Given the description of an element on the screen output the (x, y) to click on. 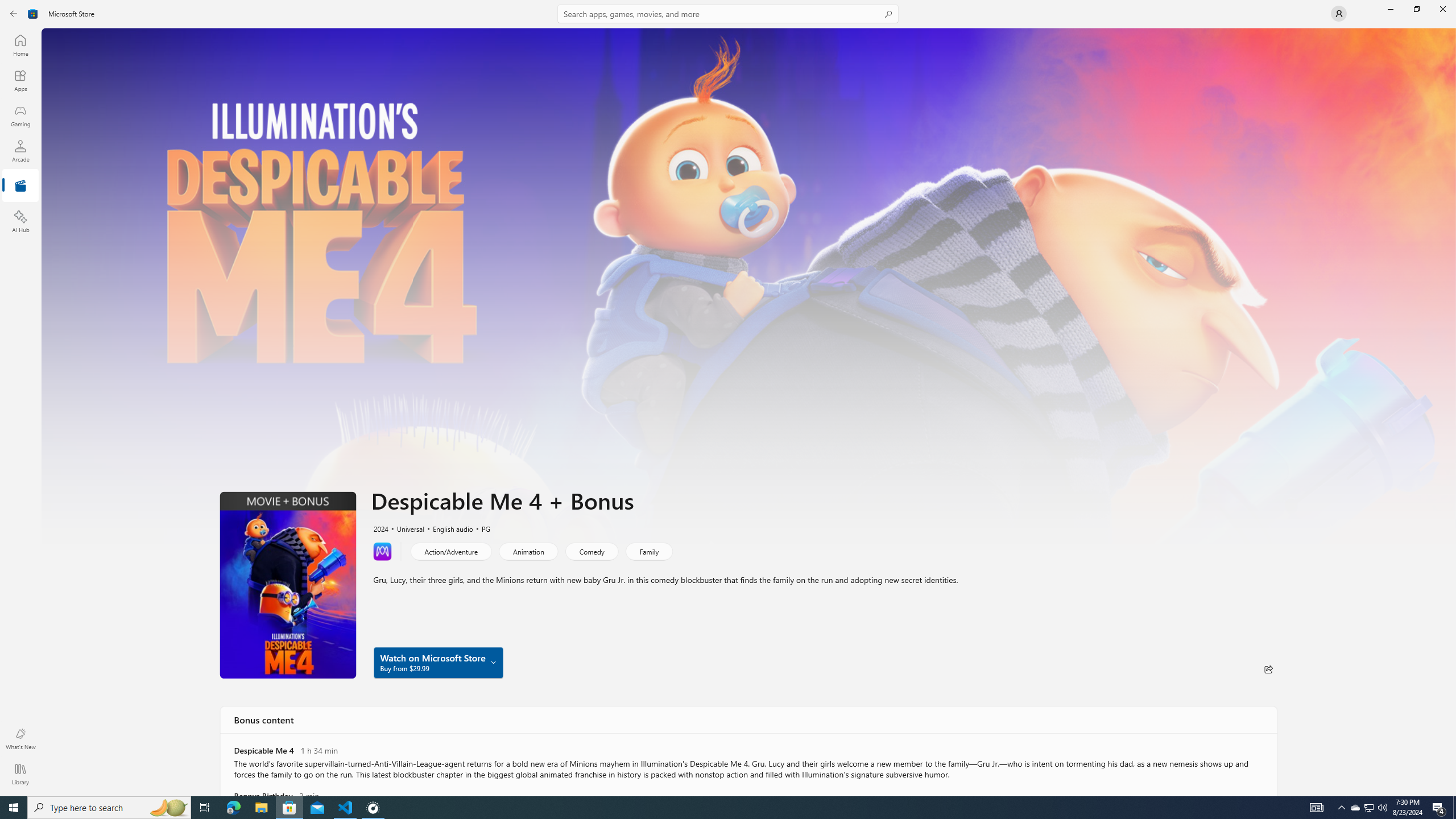
English audio (447, 528)
Comedy (590, 551)
Family (648, 551)
Learn more about Movies Anywhere (381, 551)
Share (1267, 669)
